Given the description of an element on the screen output the (x, y) to click on. 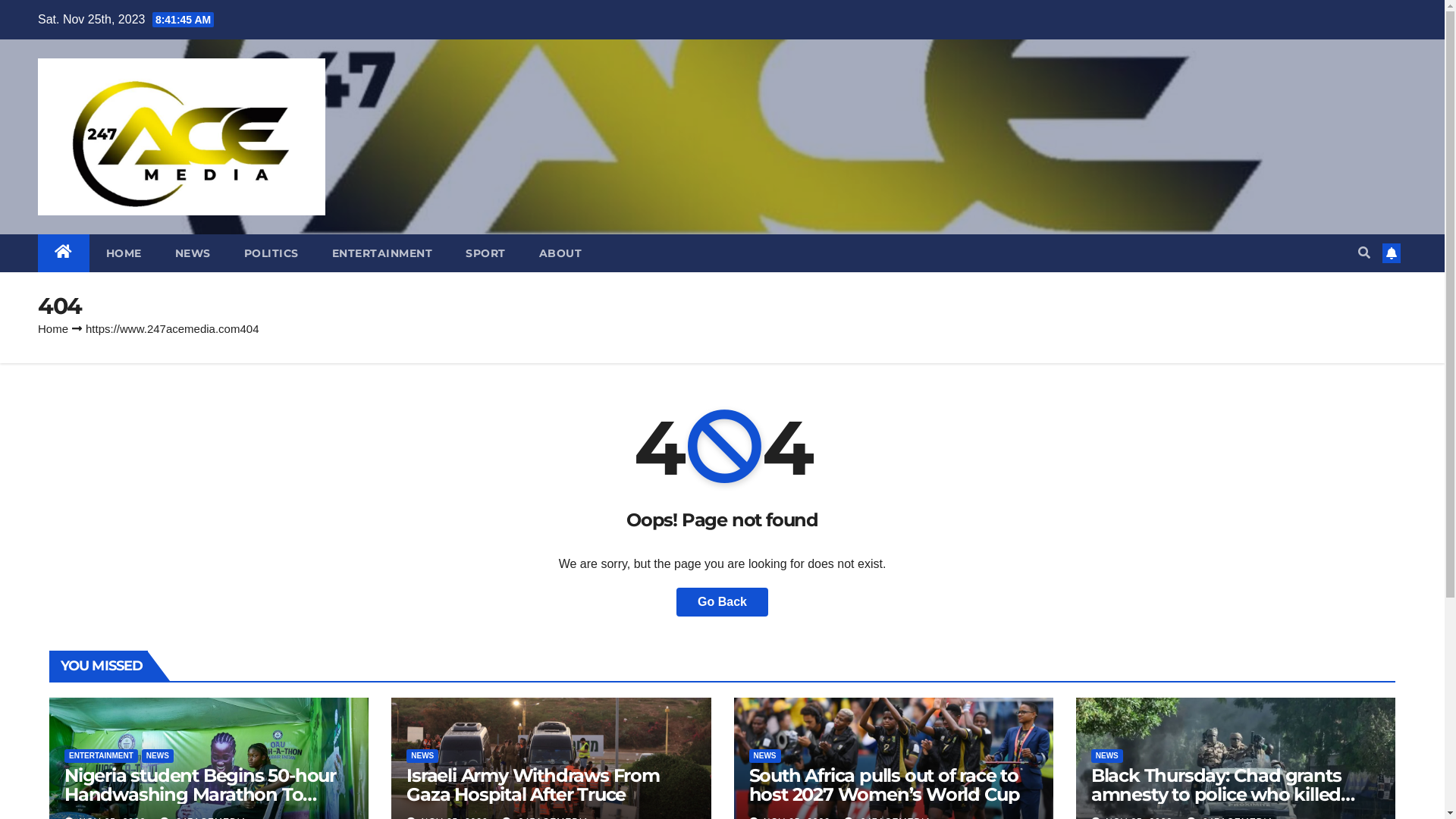
HOME Element type: text (123, 253)
Go Back Element type: text (722, 601)
ABOUT Element type: text (559, 253)
NEWS Element type: text (191, 253)
NEWS Element type: text (157, 755)
Israeli Army Withdraws From Gaza Hospital After Truce Element type: text (532, 784)
POLITICS Element type: text (271, 253)
NEWS Element type: text (765, 755)
NEWS Element type: text (1107, 755)
Home Element type: text (52, 328)
ENTERTAINMENT Element type: text (101, 755)
SPORT Element type: text (485, 253)
NEWS Element type: text (422, 755)
ENTERTAINMENT Element type: text (382, 253)
